Given the description of an element on the screen output the (x, y) to click on. 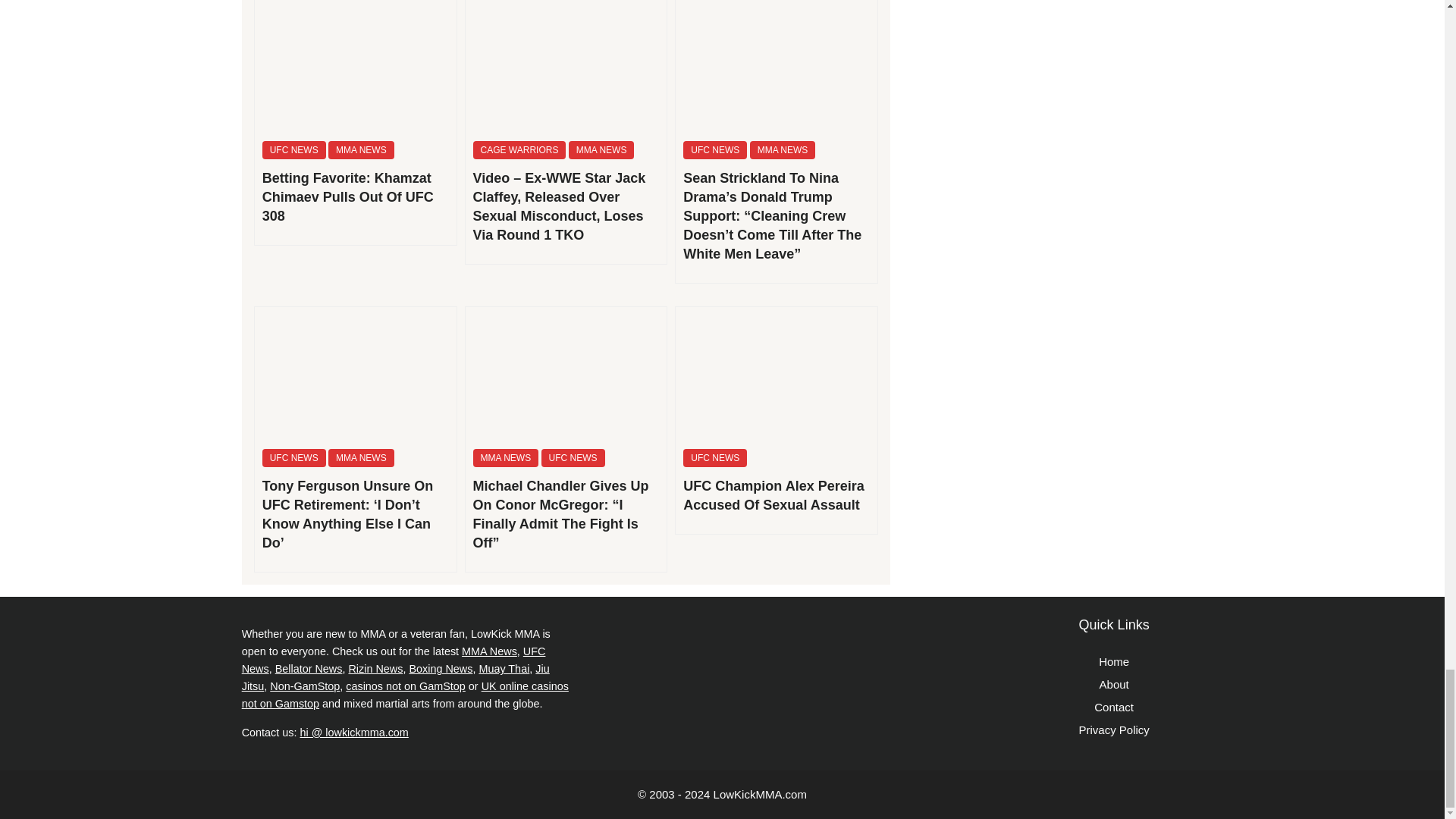
UFC Champion Alex Pereira accused of Sexual Assault 7 (776, 374)
Betting Favorite: Khamzat Chimaev Pulls out of UFC 308 2 (355, 66)
